Given the description of an element on the screen output the (x, y) to click on. 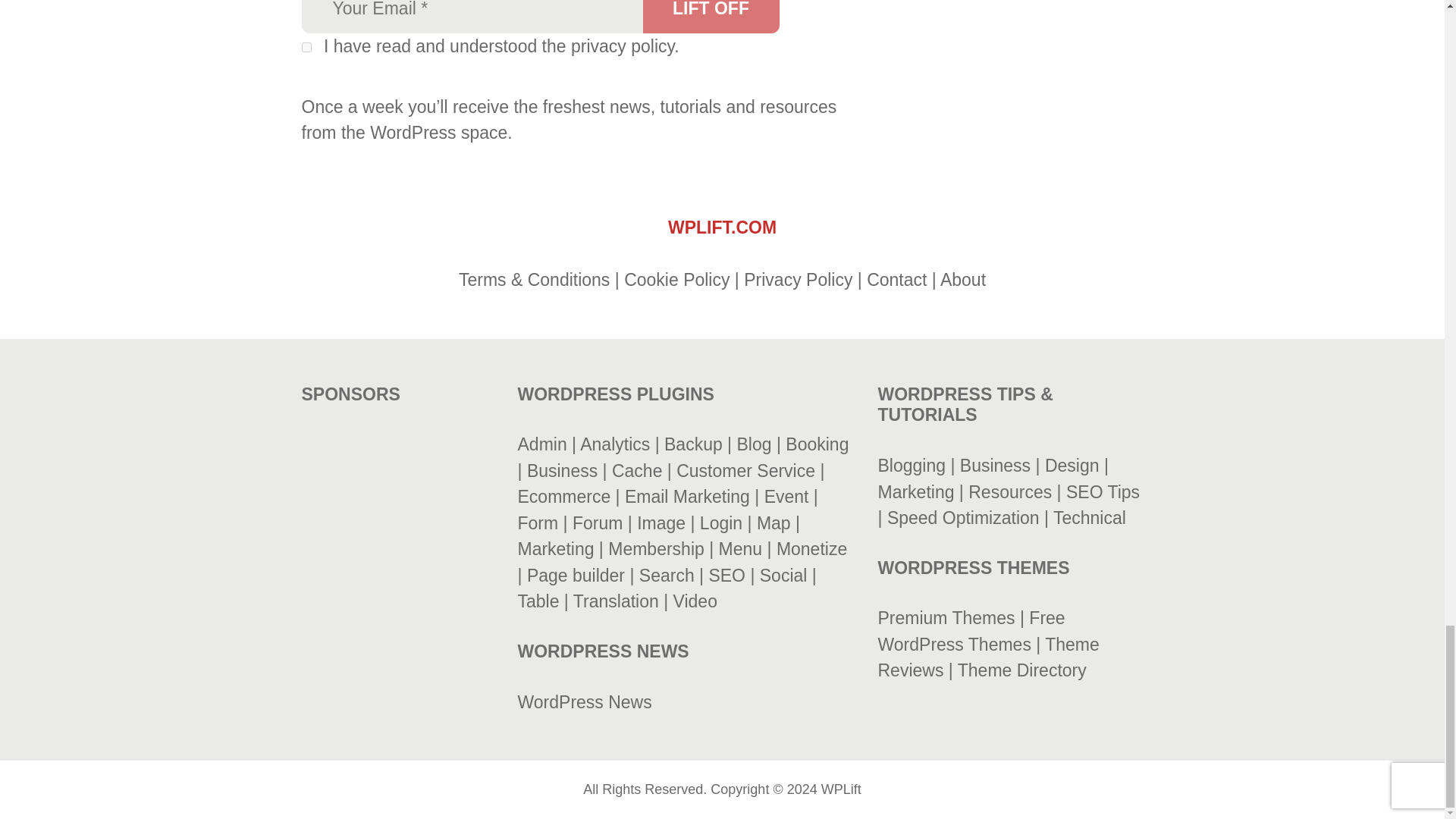
Lift OFF (710, 16)
Lift OFF (710, 16)
on (306, 47)
